Given the description of an element on the screen output the (x, y) to click on. 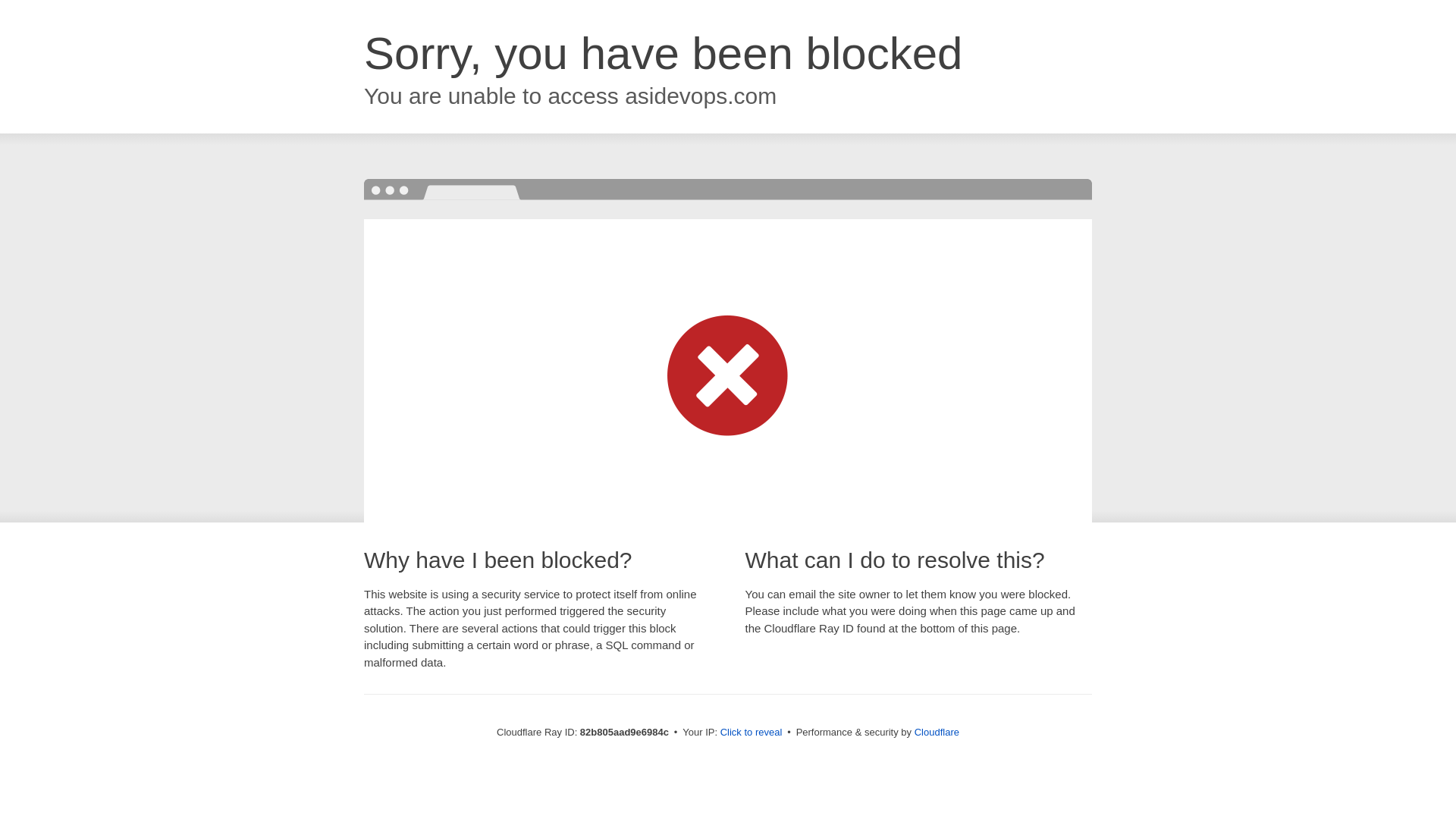
Click to reveal Element type: text (751, 732)
Cloudflare Element type: text (936, 731)
